Given the description of an element on the screen output the (x, y) to click on. 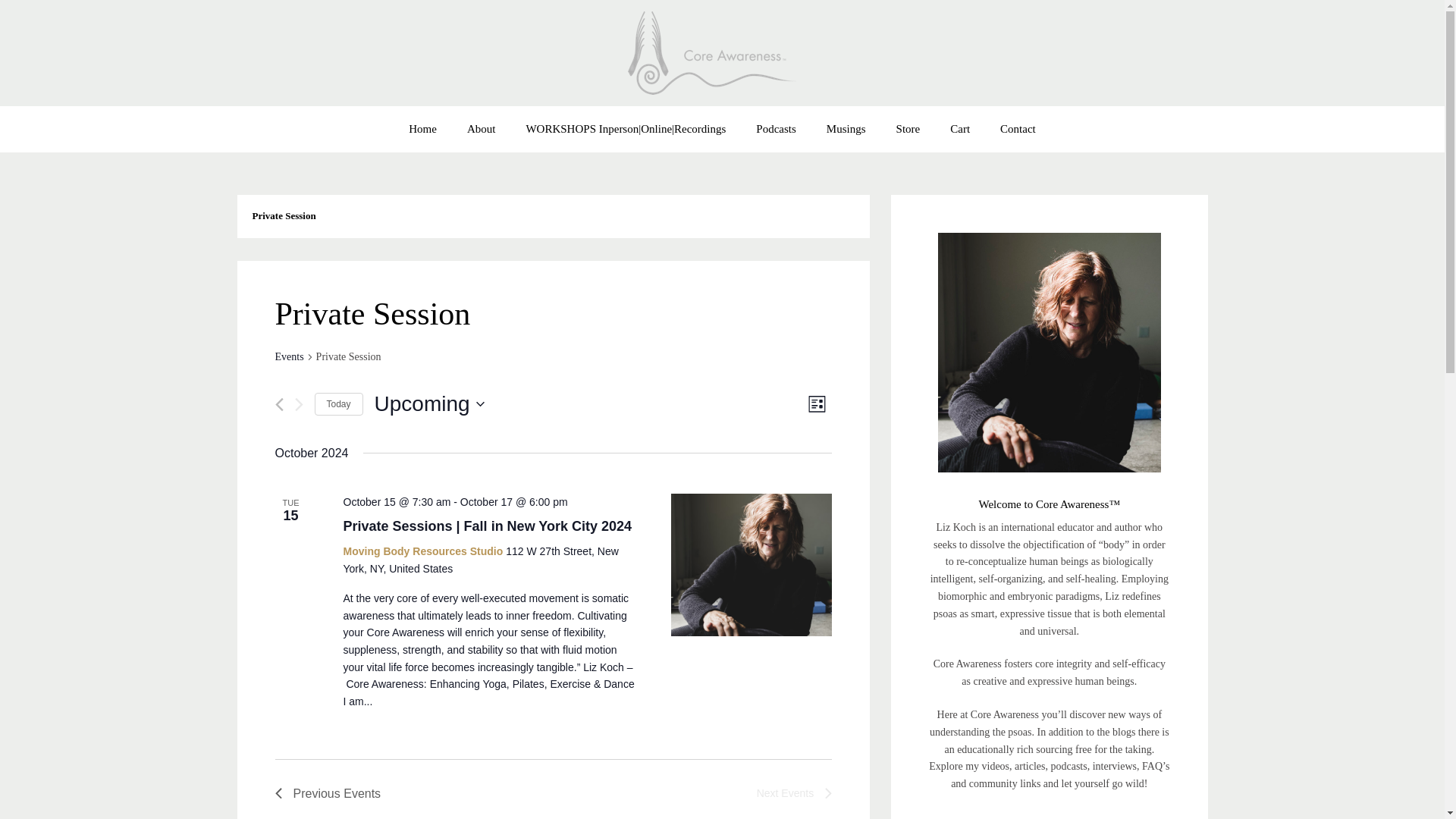
Previous Events (278, 404)
Store (908, 129)
Next Events (298, 404)
Upcoming (429, 404)
Next Events (794, 793)
Podcasts (775, 129)
Next Events (794, 793)
Musings (845, 129)
Click to select today's date (338, 404)
Contact (1018, 129)
Home (422, 129)
Events (288, 357)
List (816, 404)
Cart (959, 129)
